Given the description of an element on the screen output the (x, y) to click on. 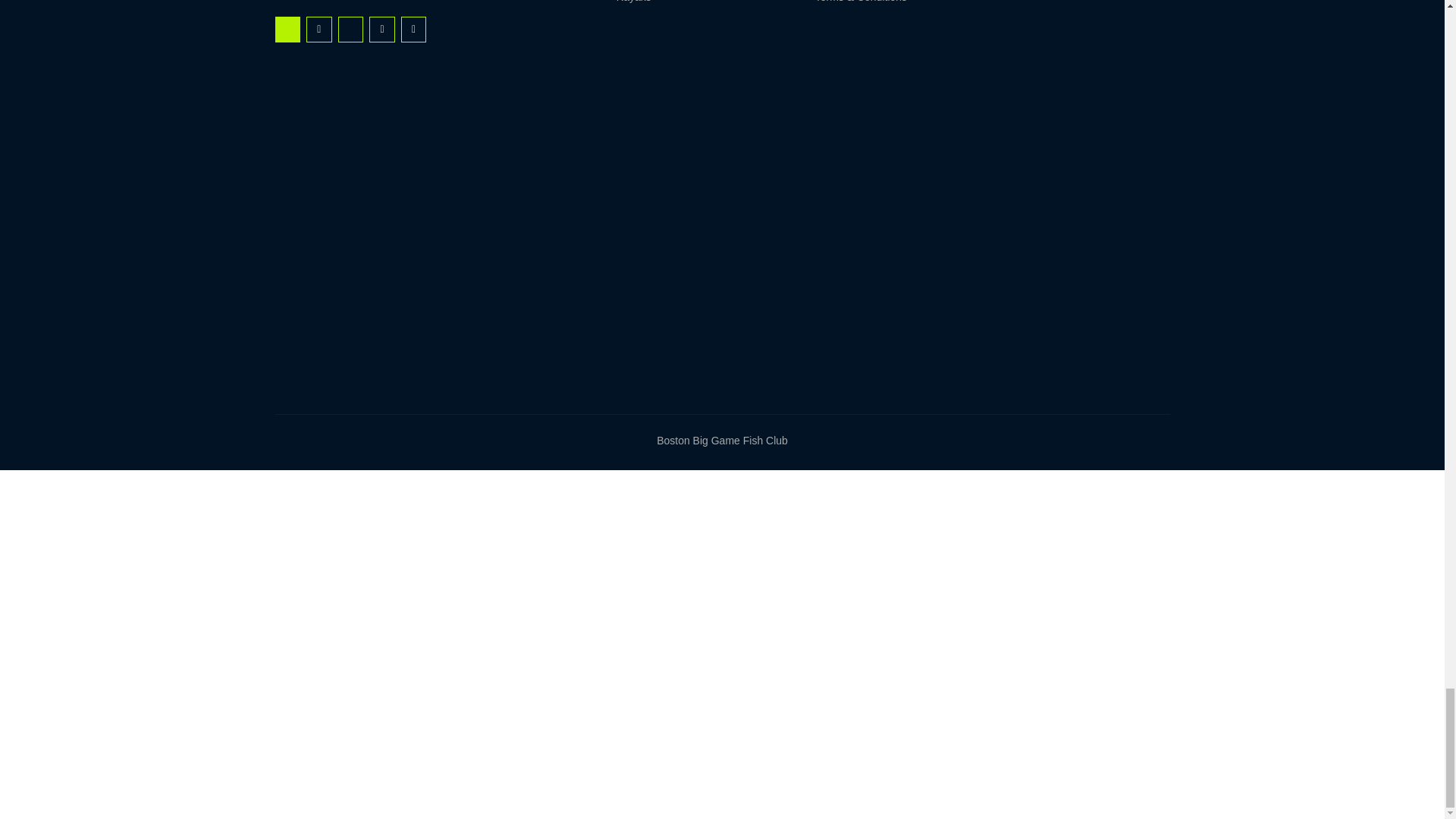
Jki-facebook-light (287, 29)
Tumblr (381, 29)
Wordpress (413, 29)
Rss (318, 29)
Kayaks (682, 4)
Jki-youtube-v-light (350, 29)
